Given the description of an element on the screen output the (x, y) to click on. 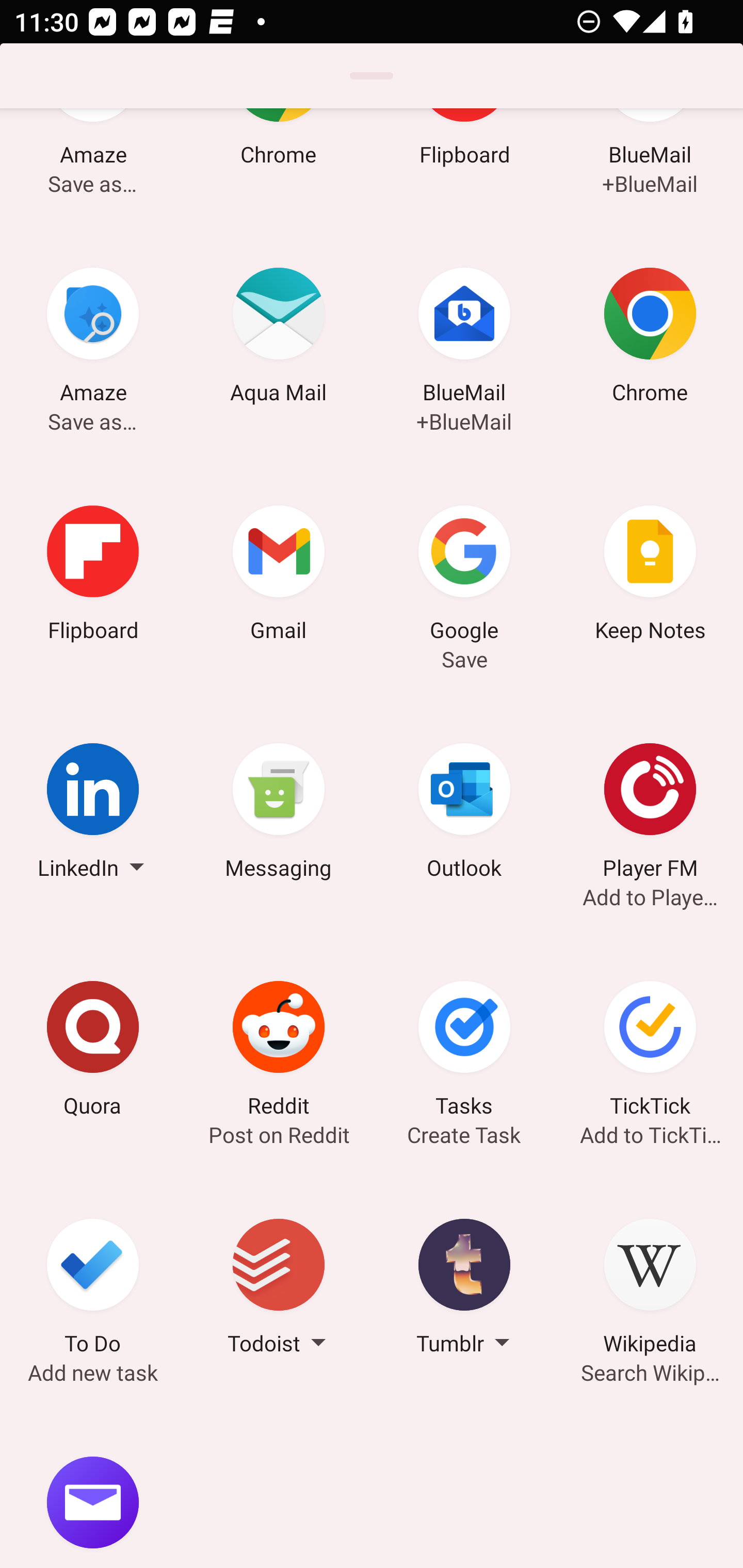
Amaze Save as… (92, 163)
Chrome (278, 163)
Flipboard (464, 163)
BlueMail +BlueMail (650, 163)
Amaze Save as… (92, 338)
Aqua Mail (278, 338)
BlueMail +BlueMail (464, 338)
Chrome (650, 338)
Flipboard (92, 575)
Gmail (278, 575)
Google Save (464, 575)
Keep Notes (650, 575)
LinkedIn (92, 813)
Messaging (278, 813)
Outlook (464, 813)
Player FM Add to Player FM (650, 813)
Quora (92, 1051)
Reddit Post on Reddit (278, 1051)
Tasks Create Task (464, 1051)
TickTick Add to TickTick (650, 1051)
To Do Add new task (92, 1289)
Todoist (278, 1289)
Tumblr (464, 1289)
Wikipedia Search Wikipedia (650, 1289)
Yahoo Mail (92, 1488)
